Given the description of an element on the screen output the (x, y) to click on. 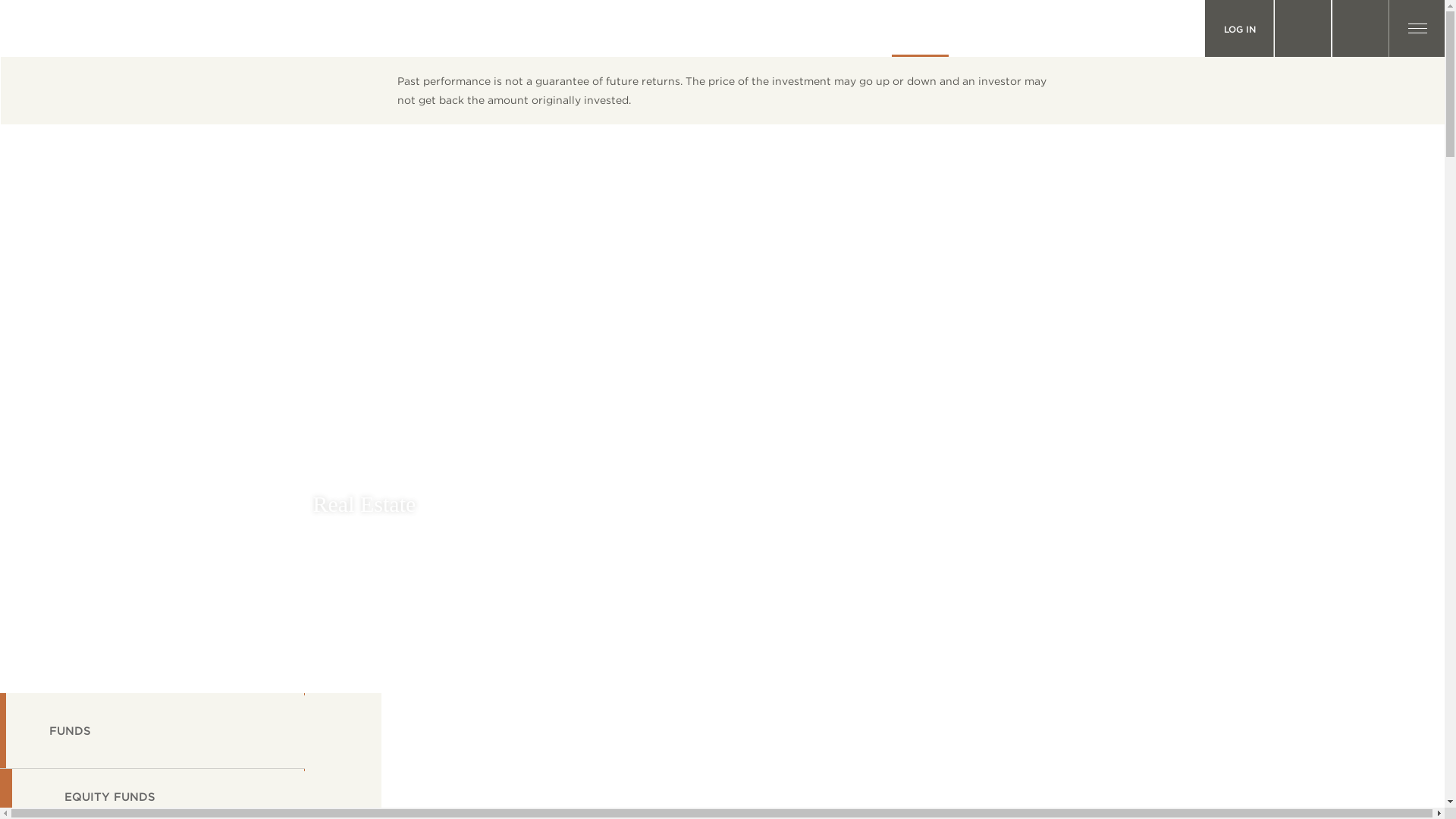
CONTACT US (1165, 28)
SVENSKA (1303, 28)
OUR FUNDS (920, 28)
SUSTAINABILITY (1006, 28)
LOG IN (1239, 28)
